Given the description of an element on the screen output the (x, y) to click on. 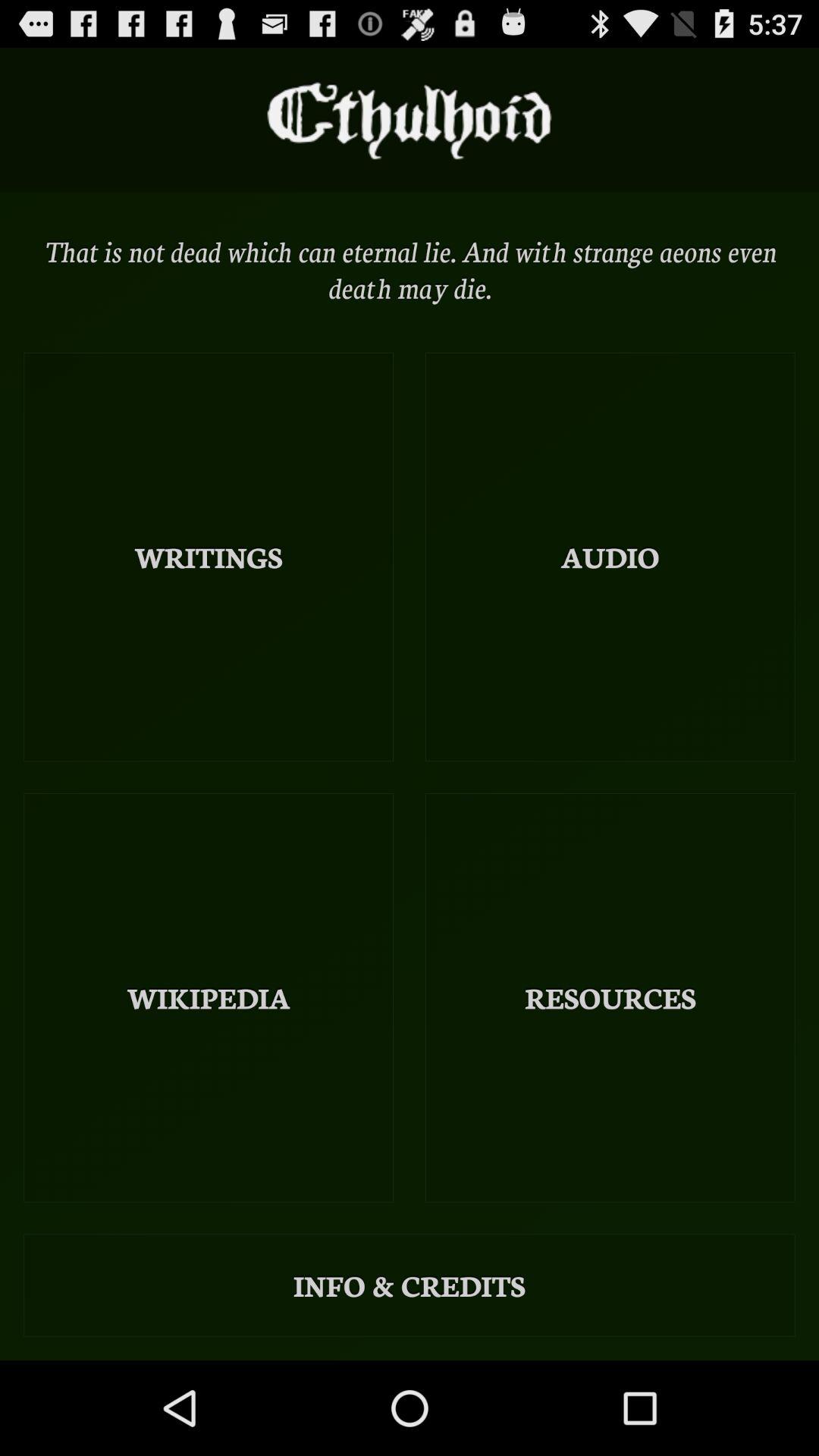
tap the item below the that is not (208, 556)
